Given the description of an element on the screen output the (x, y) to click on. 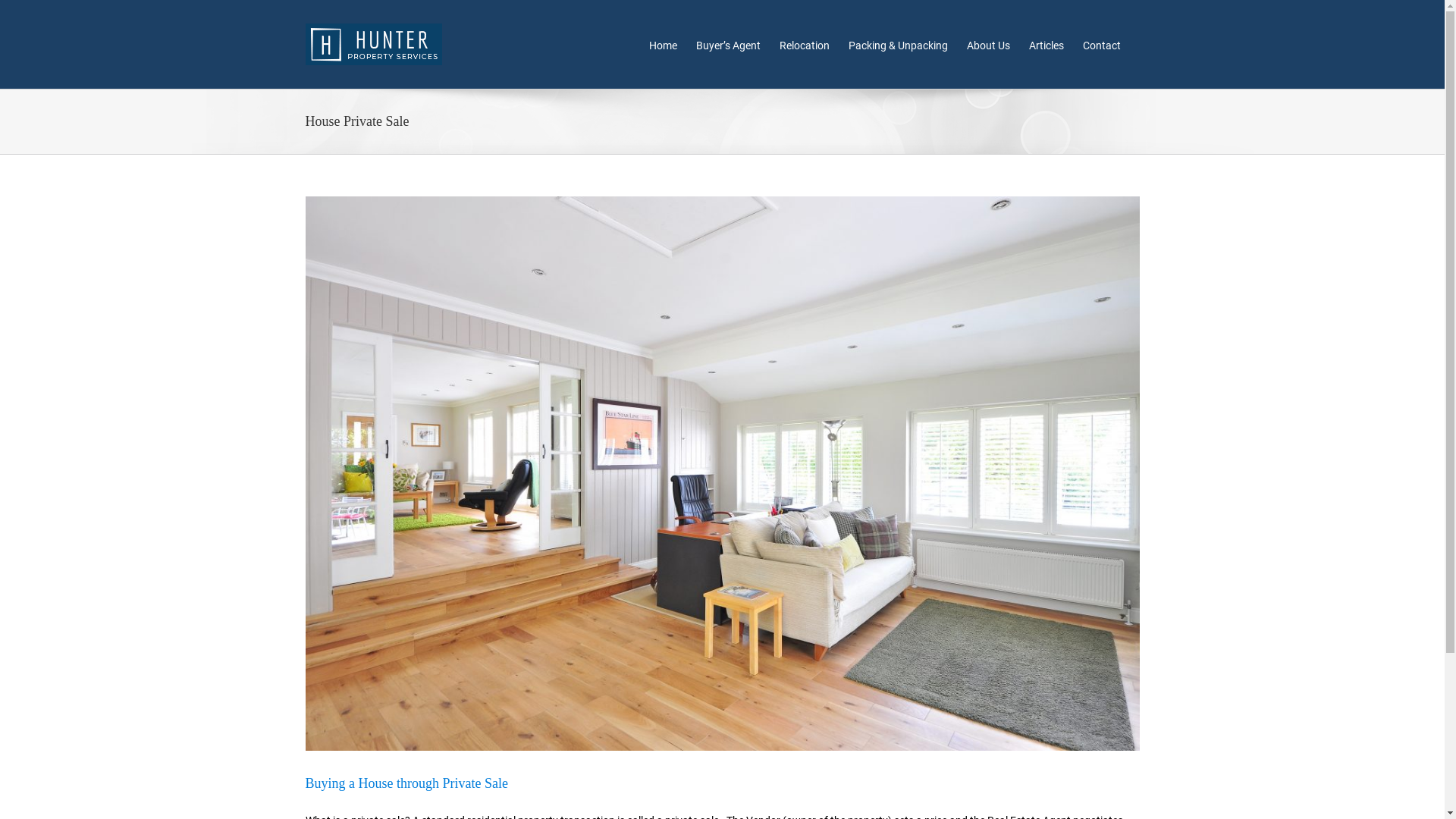
Home Element type: text (663, 44)
Packing & Unpacking Element type: text (897, 44)
Relocation Element type: text (804, 44)
Buying a House through Private Sale Element type: text (405, 782)
Articles Element type: text (1045, 44)
Contact Element type: text (1101, 44)
About Us Element type: text (987, 44)
